Given the description of an element on the screen output the (x, y) to click on. 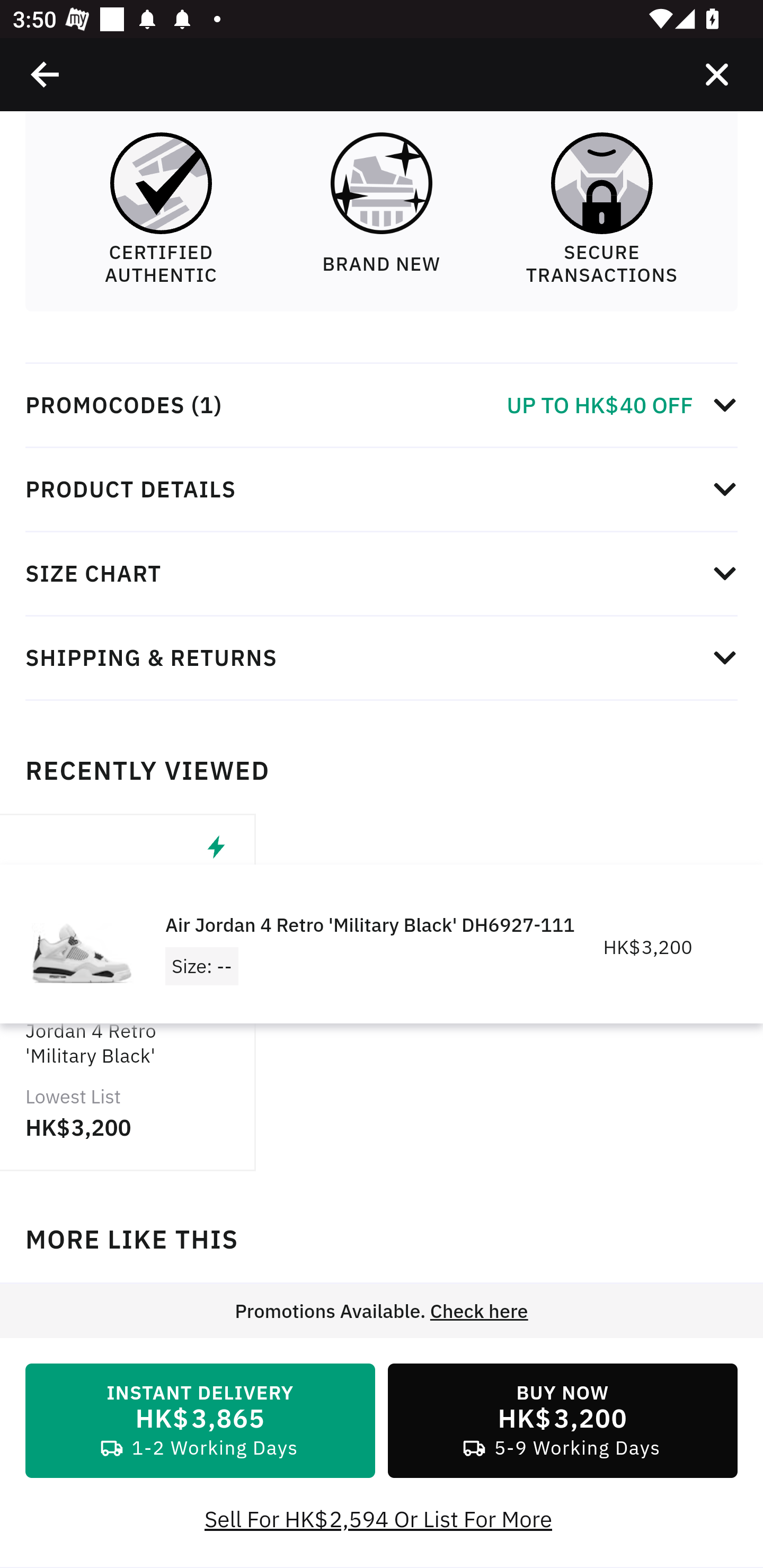
 (46, 74)
 (716, 74)
PROMOCODES (1) UP TO HK$ 40 OFF (381, 405)
PRODUCT DETAILS (381, 490)
SIZE CHART (381, 574)
SHIPPING & RETURNS (381, 658)
Promotions Available. Check here (381, 1311)
INSTANT DELIVERY HK$ 3,865 1-2 Working Days (200, 1422)
BUY NOW HK$ 3,200 5-9 Working Days (562, 1422)
Sell For HK$ 2,594 Or List For More (381, 1519)
